Given the description of an element on the screen output the (x, y) to click on. 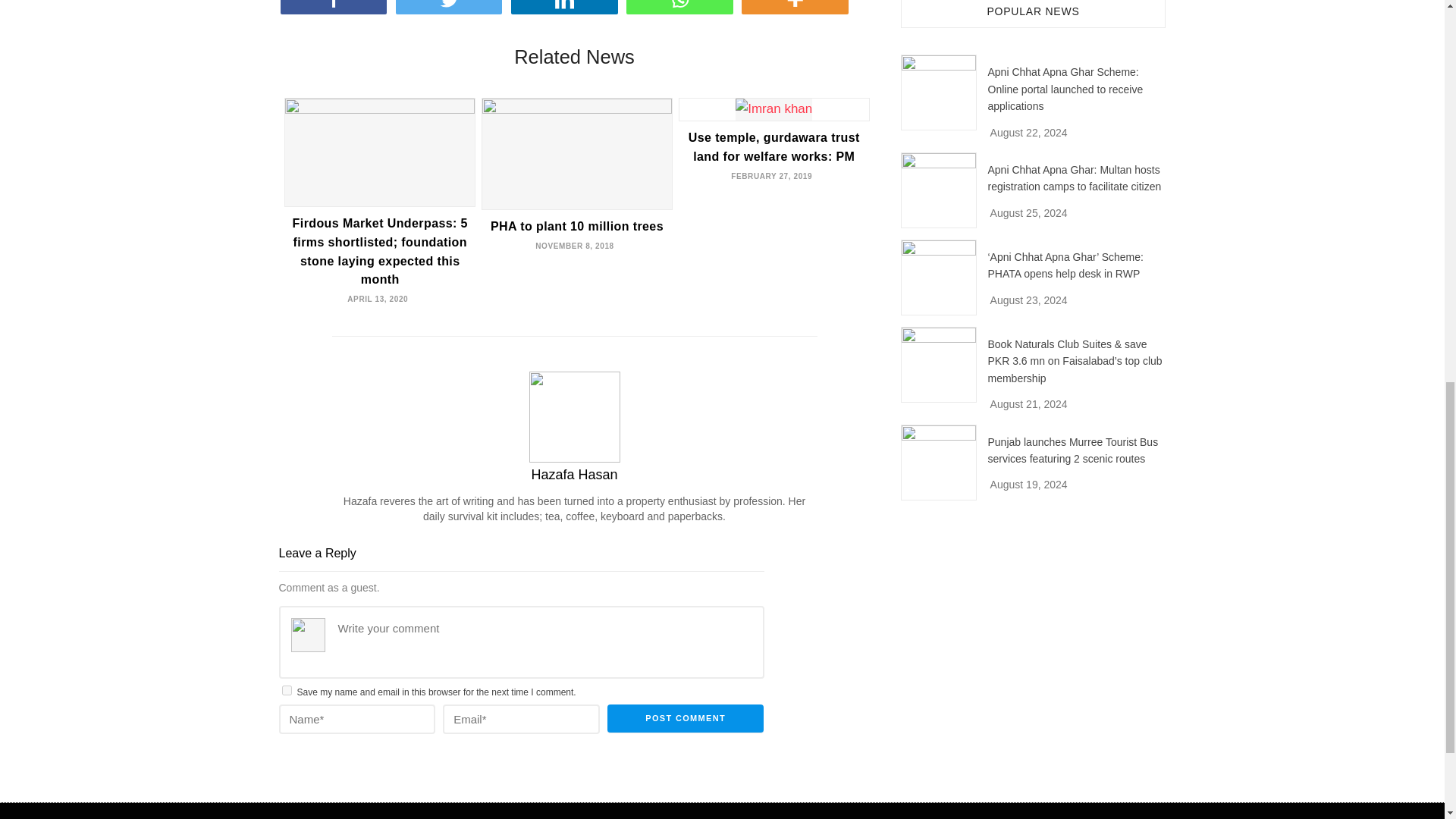
More (797, 6)
PHA to plant 10 million trees (576, 226)
Post Comment (685, 718)
Whatsapp (682, 6)
yes (287, 690)
